Given the description of an element on the screen output the (x, y) to click on. 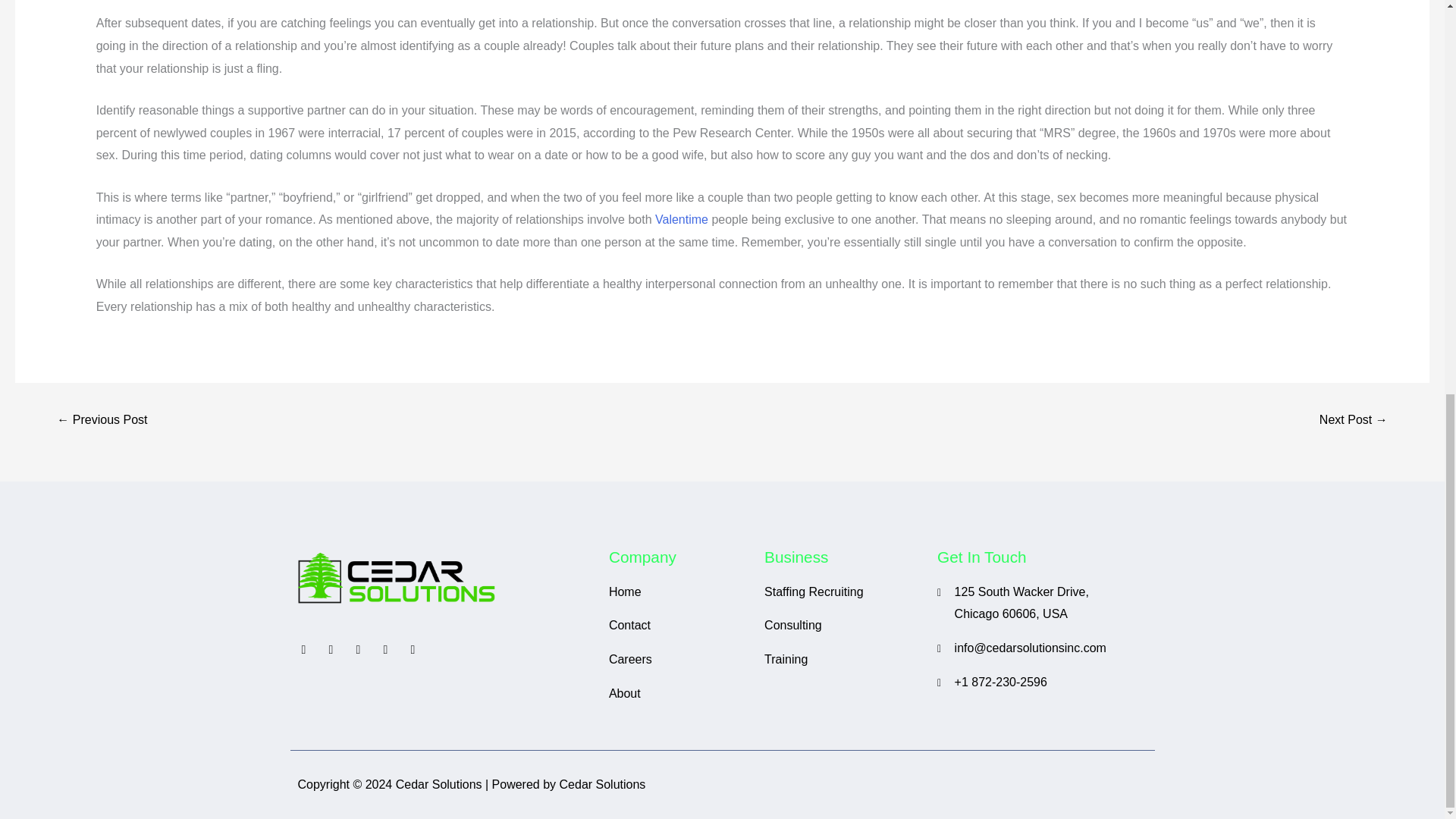
About (678, 693)
Home (678, 591)
Careers (678, 659)
Training (842, 659)
Contact (678, 625)
Staffing Recruiting (842, 591)
Valentime (681, 219)
Consulting (842, 625)
